Given the description of an element on the screen output the (x, y) to click on. 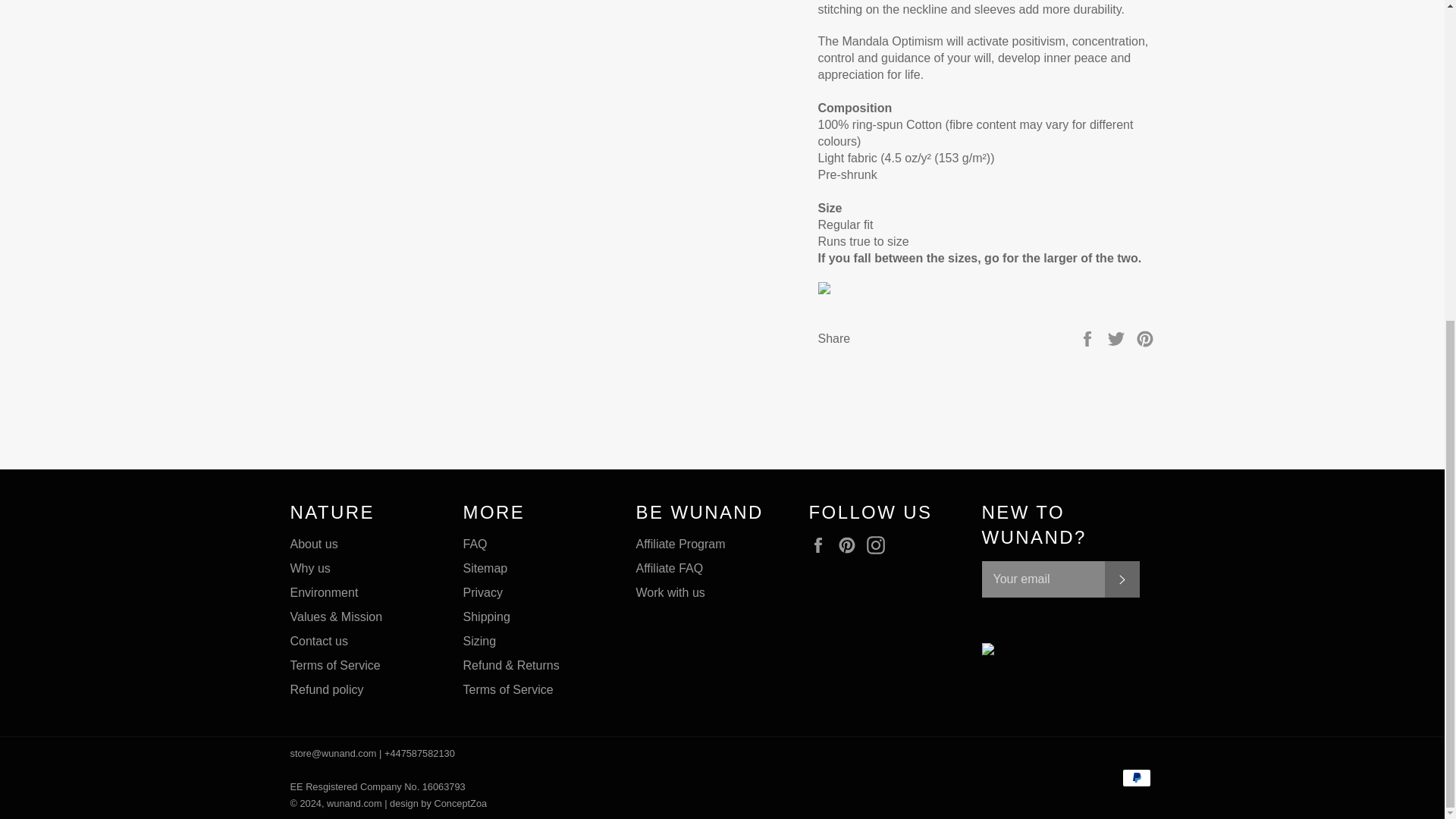
Share on Facebook (1088, 338)
wunand.com on Instagram (879, 545)
Pin on Pinterest (1144, 338)
Pin on Pinterest (1144, 338)
Environment (323, 592)
Why us (309, 567)
wunand.com on Facebook (821, 545)
Terms of Service (334, 665)
Tweet on Twitter (1117, 338)
About us (313, 543)
wunand.com on Pinterest (850, 545)
Tweet on Twitter (1117, 338)
FAQ (474, 543)
Refund policy (325, 689)
Share on Facebook (1088, 338)
